Given the description of an element on the screen output the (x, y) to click on. 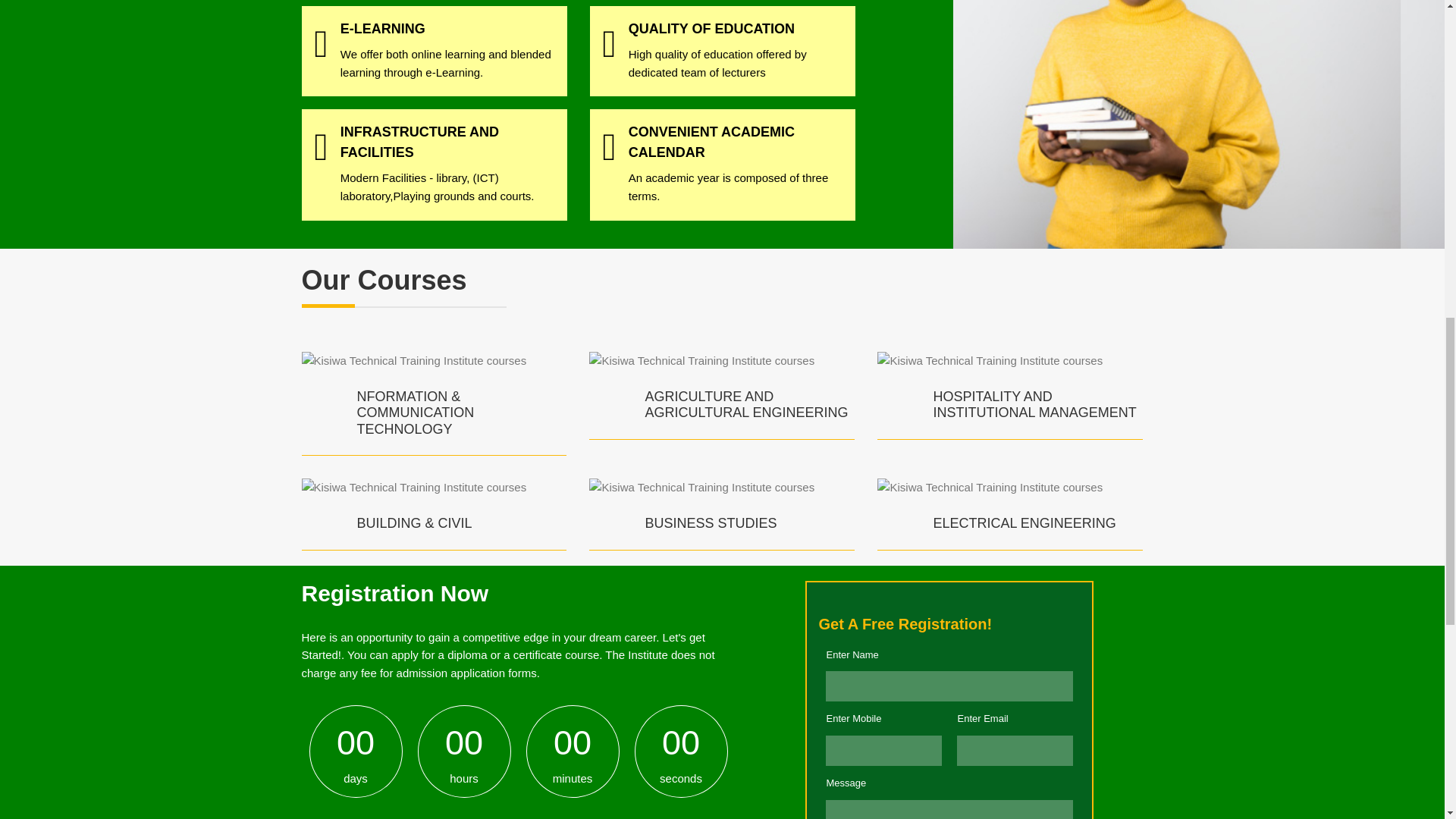
HOSPITALITY AND INSTITUTIONAL MANAGEMENT (1034, 404)
E-LEARNING (382, 28)
QUALITY OF EDUCATION (711, 28)
CONVENIENT ACADEMIC CALENDAR (711, 141)
AGRICULTURE AND AGRICULTURAL ENGINEERING (746, 404)
ELECTRICAL ENGINEERING (1024, 522)
BUSINESS STUDIES (710, 522)
INFRASTRUCTURE AND FACILITIES (419, 141)
